Given the description of an element on the screen output the (x, y) to click on. 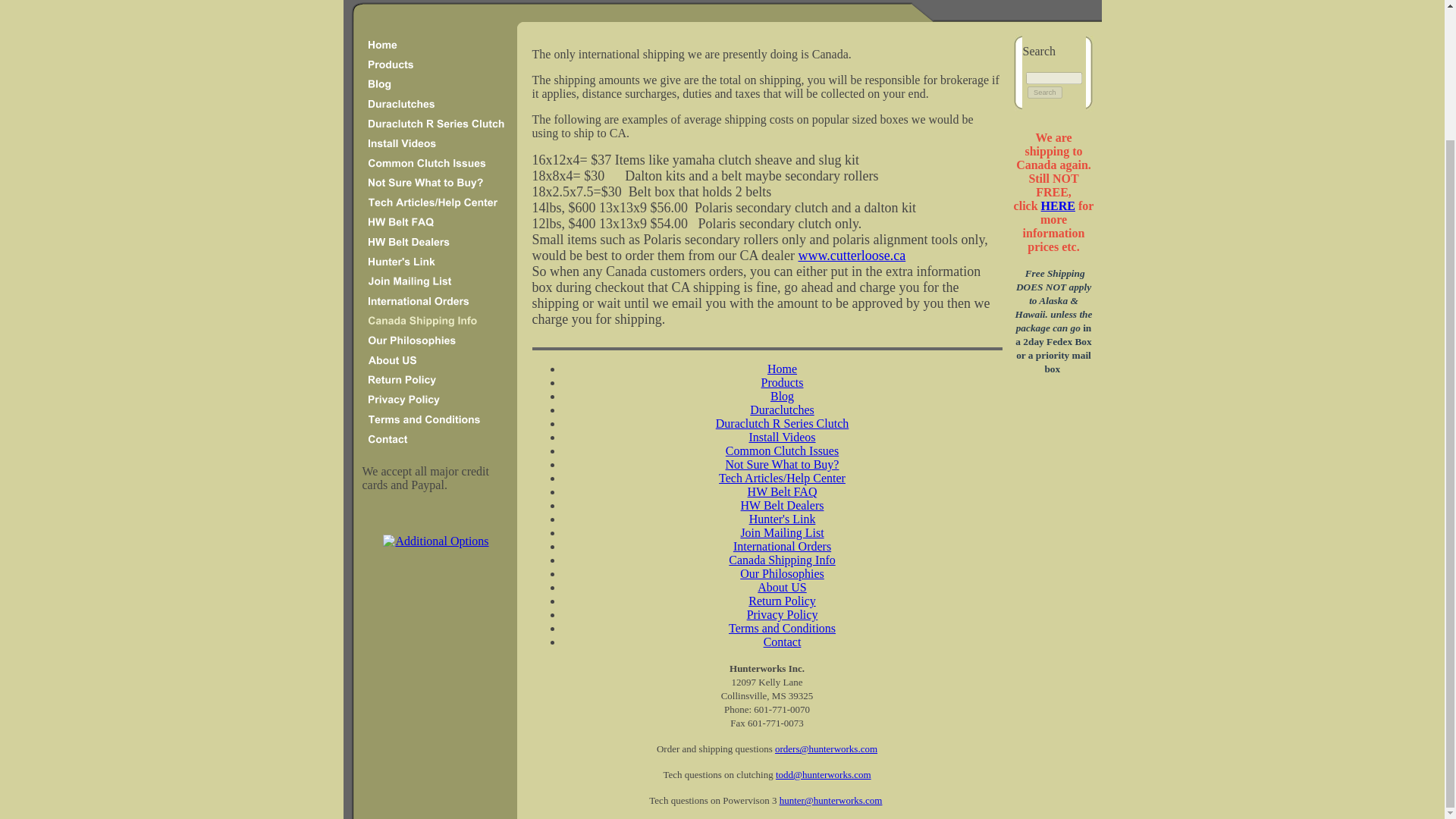
Not Sure What to Buy? (782, 463)
HW Belt Dealers (782, 504)
Search (1044, 92)
Home (781, 368)
Blog (781, 395)
www.cutterloose.ca (851, 255)
Common Clutch Issues (781, 450)
Duraclutch R Series Clutch (782, 422)
Install Videos (781, 436)
Products (782, 382)
Duraclutches (781, 409)
HW Belt FAQ (782, 491)
